Given the description of an element on the screen output the (x, y) to click on. 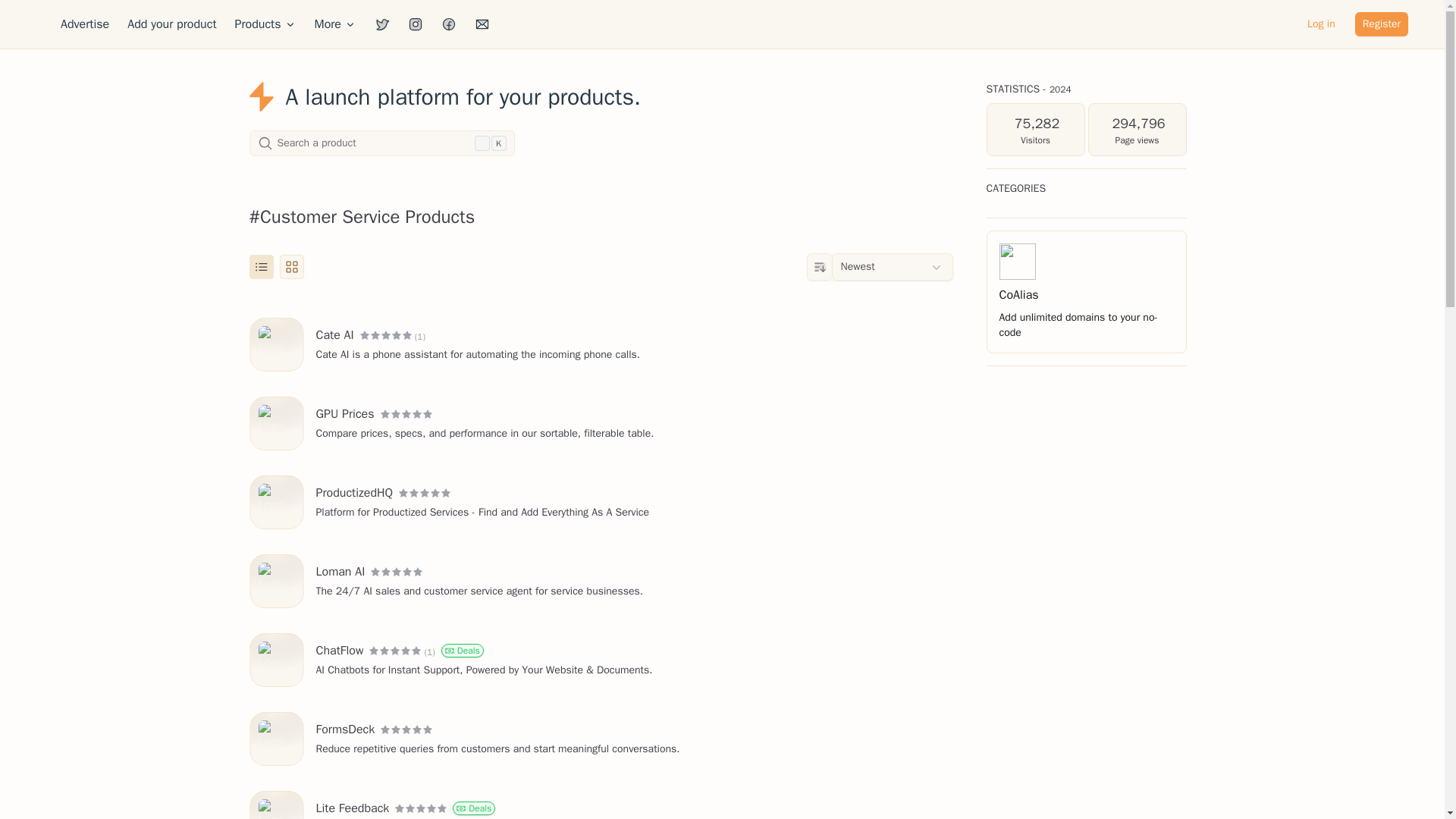
More (380, 143)
Register (335, 23)
Products (1381, 24)
Add your product (264, 23)
Advertise (171, 23)
Log in (85, 23)
Newest (1321, 24)
